Given the description of an element on the screen output the (x, y) to click on. 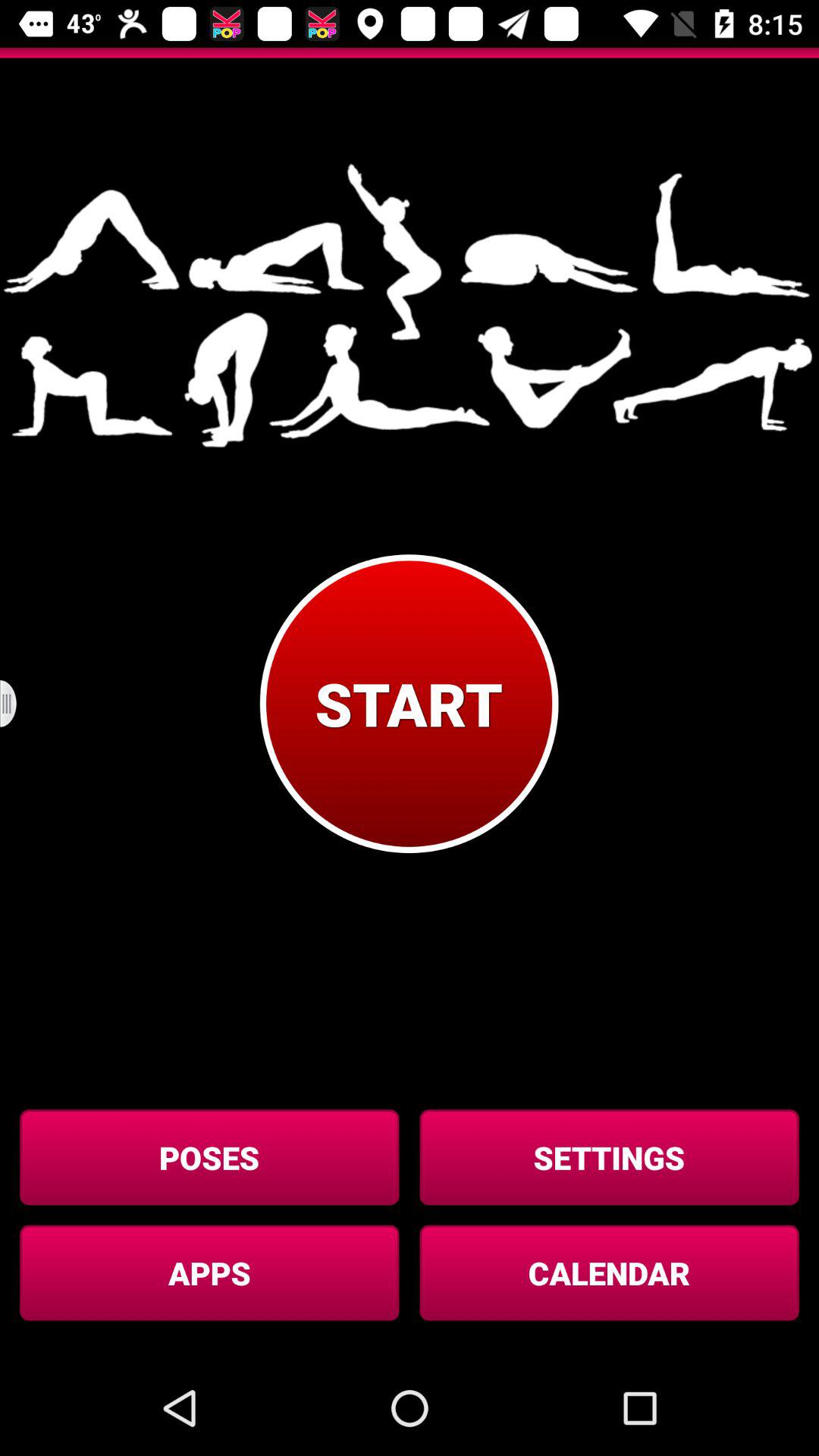
select item on the left (18, 703)
